Given the description of an element on the screen output the (x, y) to click on. 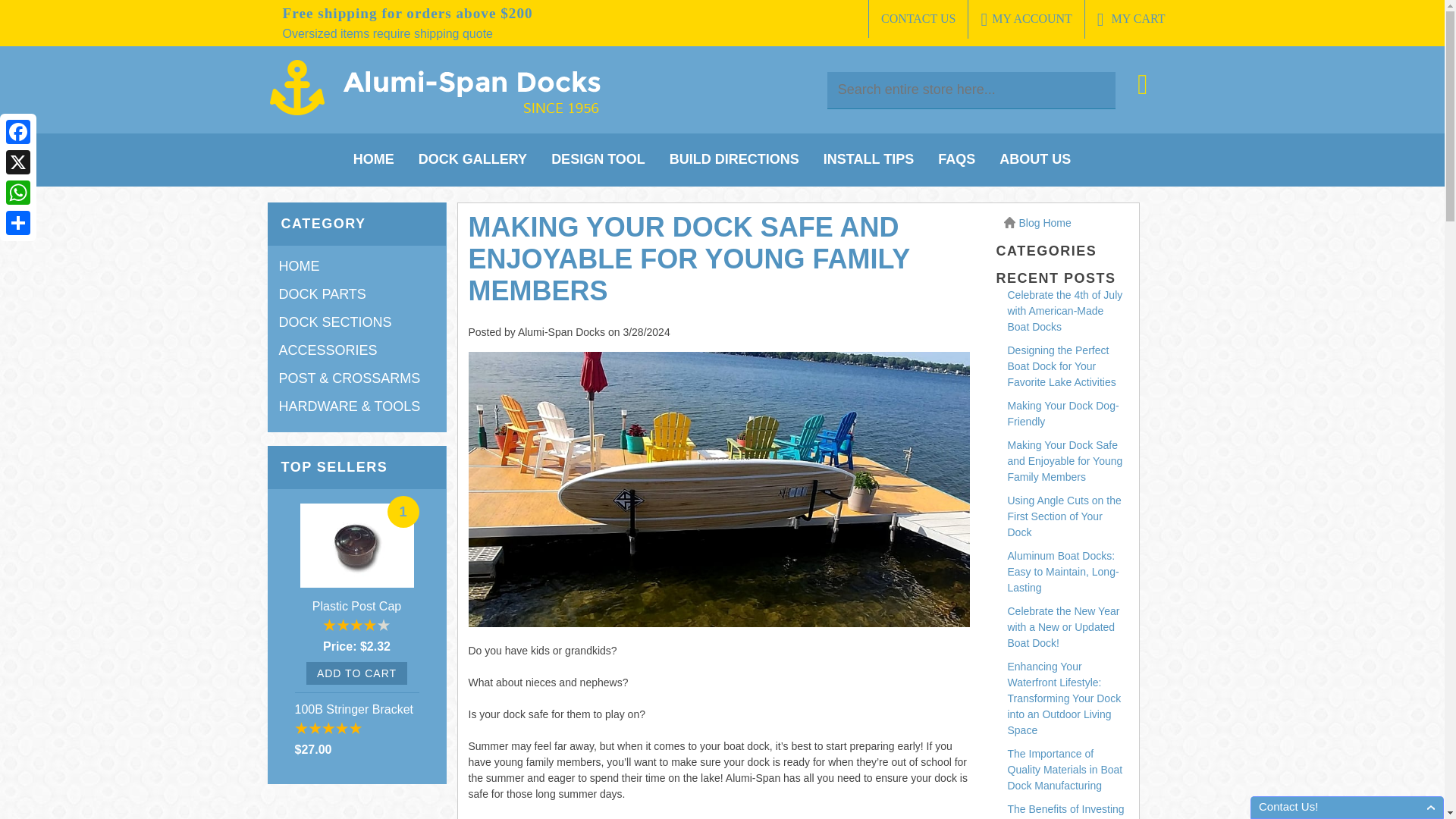
Add To Cart (356, 672)
MY CART (1130, 19)
ABOUT US (1034, 159)
home (435, 114)
DESIGN TOOL (598, 159)
BUILD DIRECTIONS (734, 159)
DOCK PARTS (322, 294)
ACCESSORIES (328, 350)
DOCK SECTIONS (335, 322)
INSTALL TIPS (869, 159)
CONTACT US (918, 18)
HOME (373, 159)
FAQS (956, 159)
Making Your Dock Safe and Enjoyable for Young Family Members (689, 258)
HOME (299, 265)
